Given the description of an element on the screen output the (x, y) to click on. 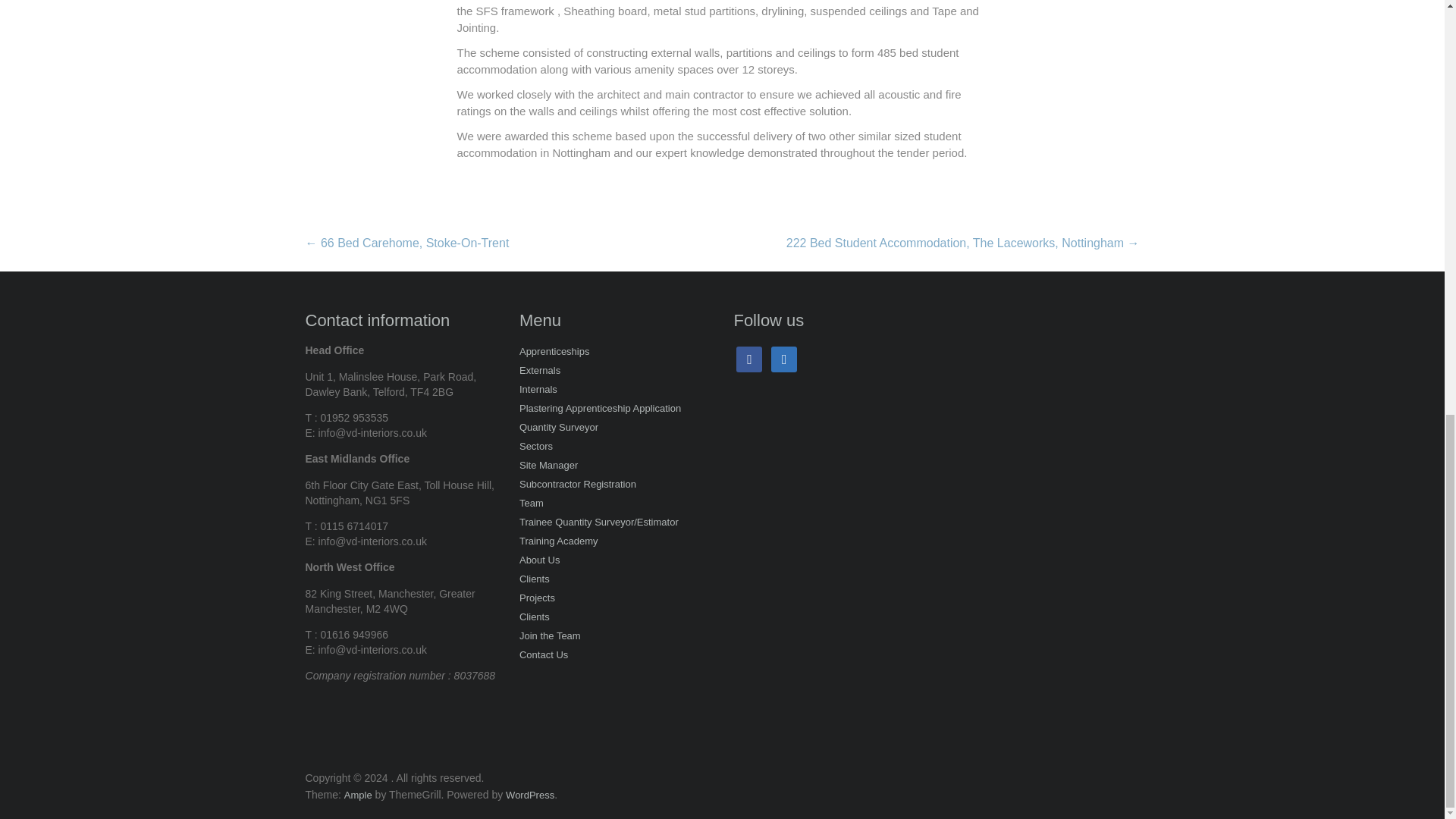
Plastering Apprenticeship Application (600, 409)
Join the Team (549, 637)
Ample (357, 794)
Externals (539, 371)
About Us (539, 561)
Subcontractor Registration (577, 485)
Ample (357, 794)
WordPress (529, 794)
Team (531, 504)
Clients (534, 579)
Sectors (536, 447)
Clients (534, 618)
Contact Us (543, 656)
Apprenticeships (554, 352)
Quantity Surveyor (558, 428)
